Given the description of an element on the screen output the (x, y) to click on. 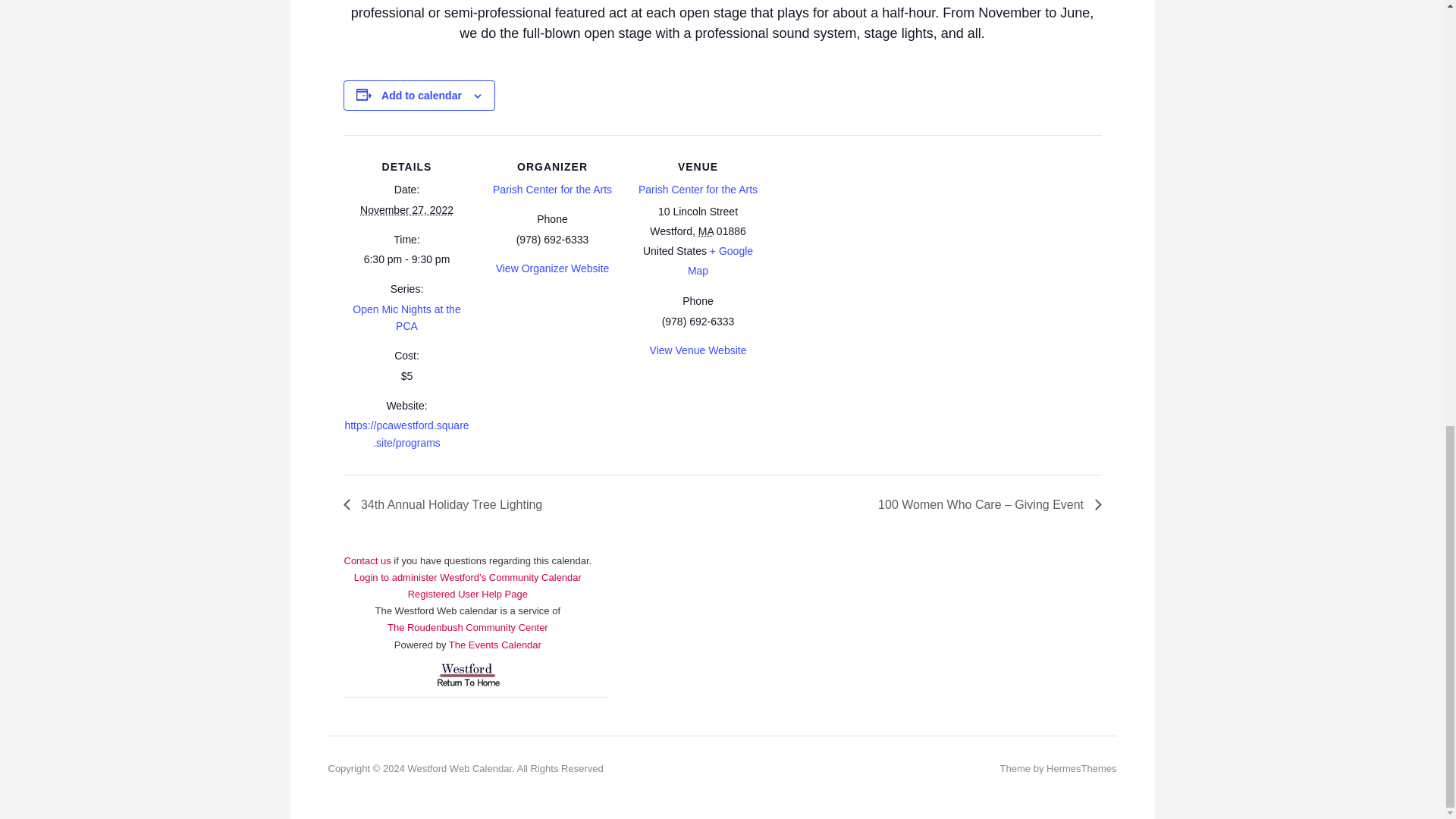
View Venue Website (697, 349)
Parish Center for the Arts (698, 189)
Parish Center for the Arts (552, 189)
Contact us (405, 569)
View Organizer Website (553, 268)
Open Mic Nights at the PCA (406, 317)
The Events Calendar (494, 644)
Click to view a Google Map (719, 260)
HermesThemes (1081, 767)
The Roudenbush Community Center (467, 627)
